Given the description of an element on the screen output the (x, y) to click on. 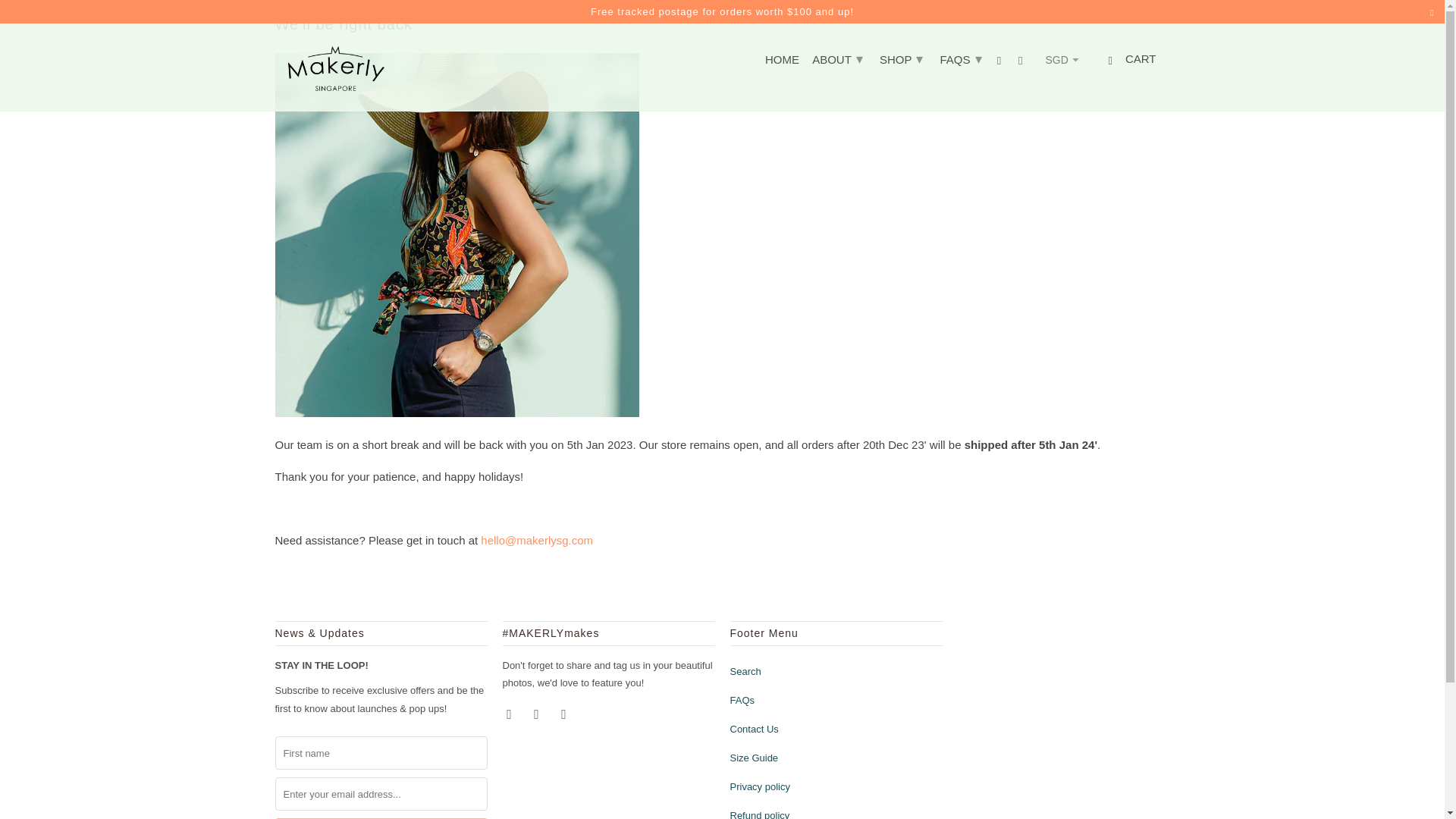
MAKERLYSG on Instagram (537, 713)
MAKERLYSG (335, 66)
Email MAKERLYSG (564, 713)
MAKERLYSG on Facebook (510, 713)
